Given the description of an element on the screen output the (x, y) to click on. 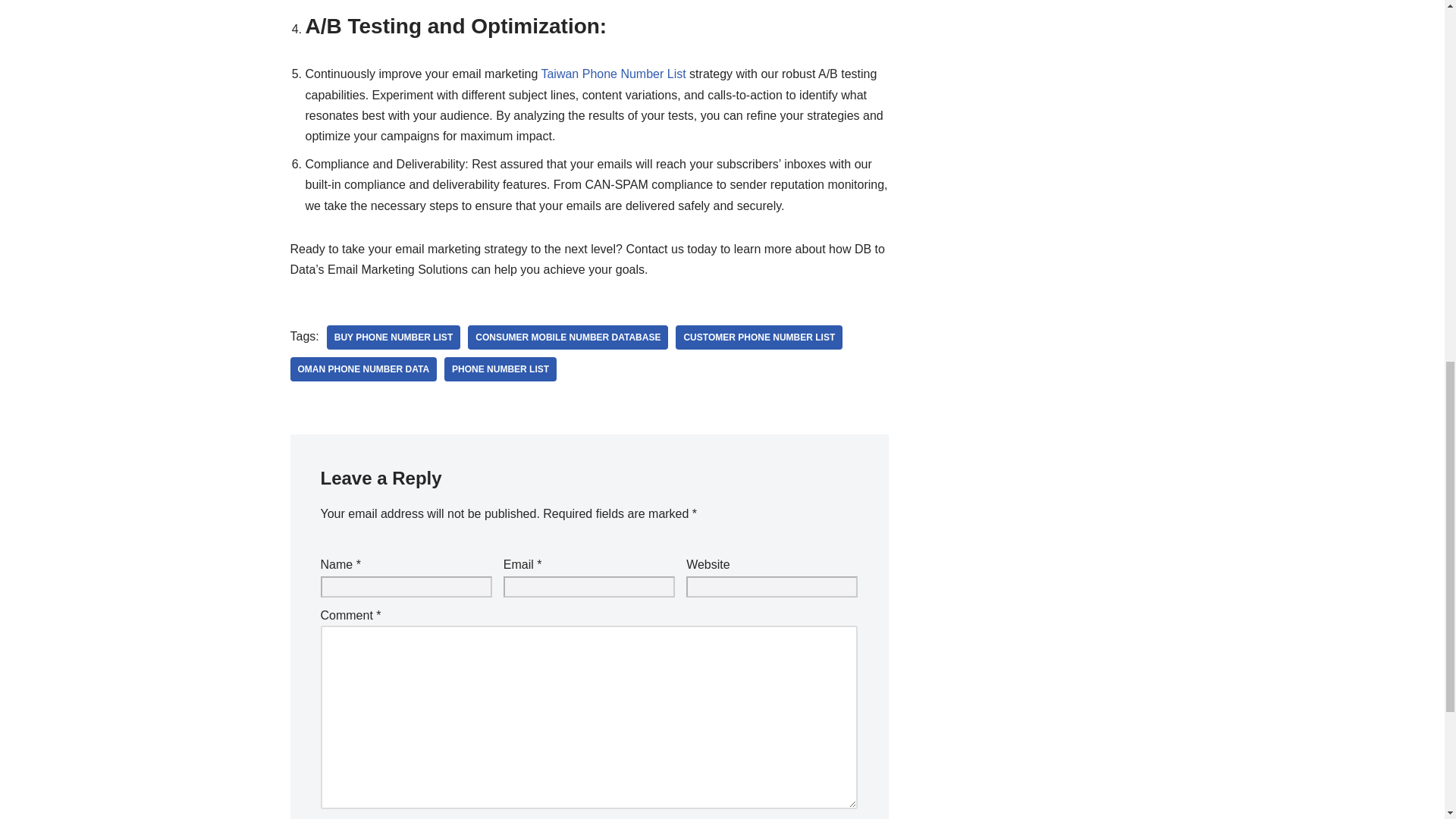
BUY PHONE NUMBER LIST (393, 337)
buy phone number list (393, 337)
Phone Number List (500, 369)
CUSTOMER PHONE NUMBER LIST (759, 337)
OMAN PHONE NUMBER DATA (362, 369)
Customer Phone Number List (759, 337)
Taiwan Phone Number List (612, 73)
CONSUMER MOBILE NUMBER DATABASE (567, 337)
Oman Phone Number Data (362, 369)
Consumer Mobile number Database (567, 337)
PHONE NUMBER LIST (500, 369)
